Given the description of an element on the screen output the (x, y) to click on. 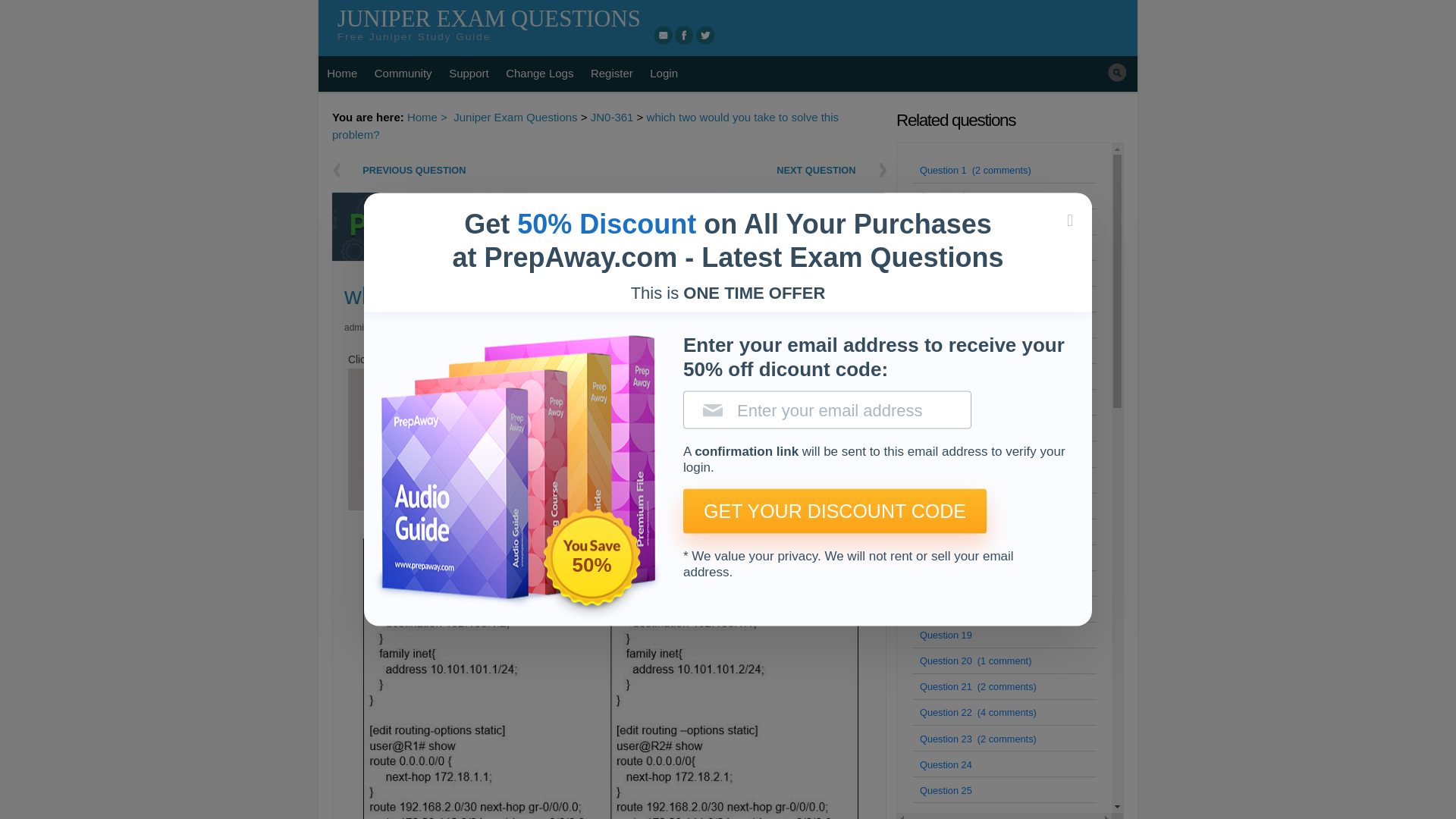
JUNIPER EXAM QUESTIONS (488, 18)
FACEBOOK (684, 35)
which two would you take to solve this problem? (584, 125)
JN0-361 (612, 116)
Change Logs (539, 73)
Skip to main navigation (1146, 26)
February 1, 2018 (411, 327)
EMAIL (663, 35)
Skip to content (355, 64)
Skip to top navigation (706, 8)
eMail (663, 35)
Twitter (705, 35)
Community (403, 73)
NEXT QUESTION (758, 169)
Permalink to which two would you take to solve this problem? (411, 327)
